Given the description of an element on the screen output the (x, y) to click on. 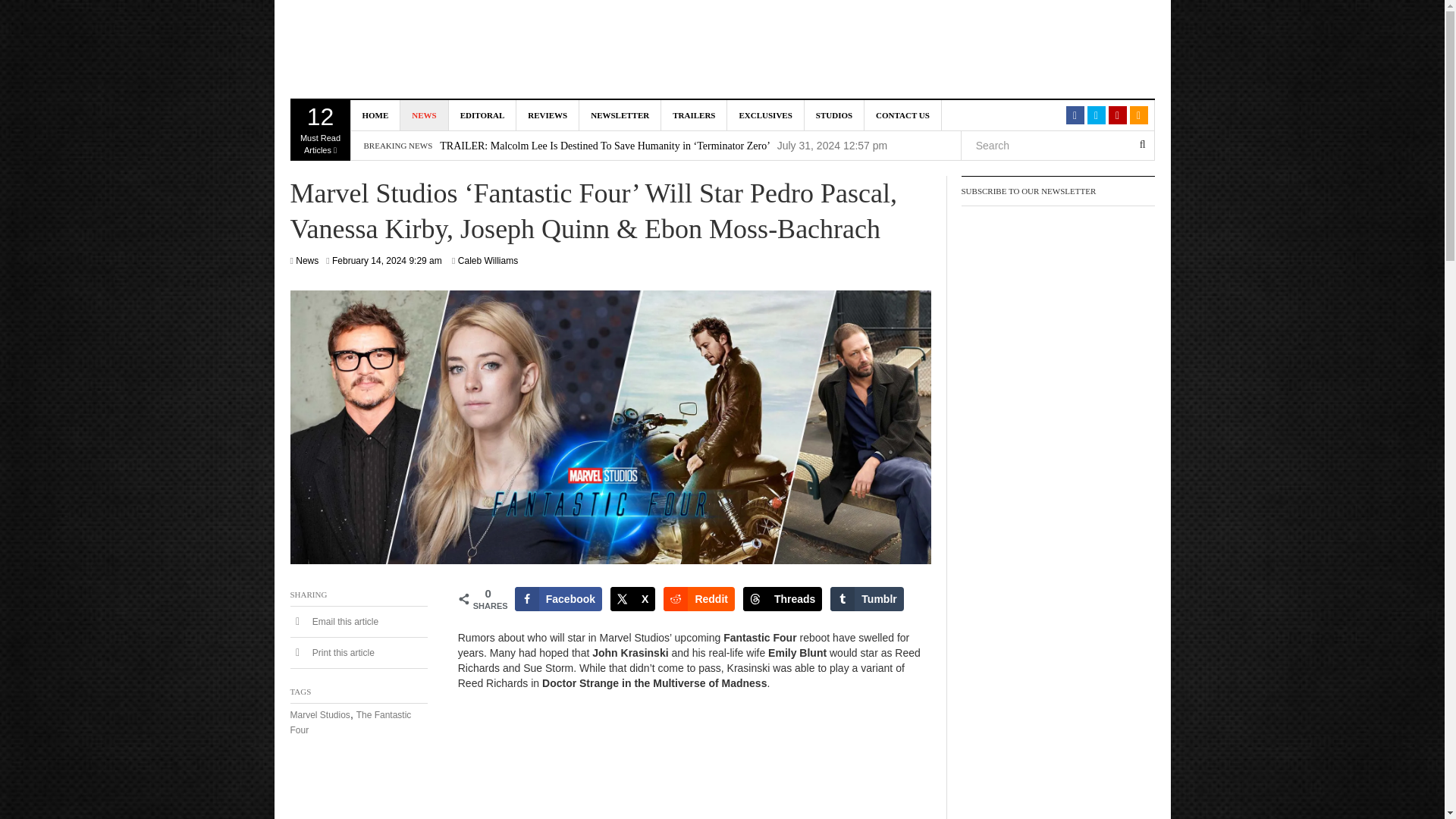
STUDIOS (834, 114)
Share on Reddit (699, 598)
Share on Tumblr (865, 598)
Share on X (632, 598)
NEWS (424, 114)
HOME (375, 114)
EXCLUSIVES (764, 114)
TRAILERS (319, 129)
NEWSLETTER (693, 114)
CONTACT US (620, 114)
Knight Edge Media (903, 114)
Share on Facebook (423, 50)
Share on Threads (558, 598)
EDITORAL (782, 598)
